Given the description of an element on the screen output the (x, y) to click on. 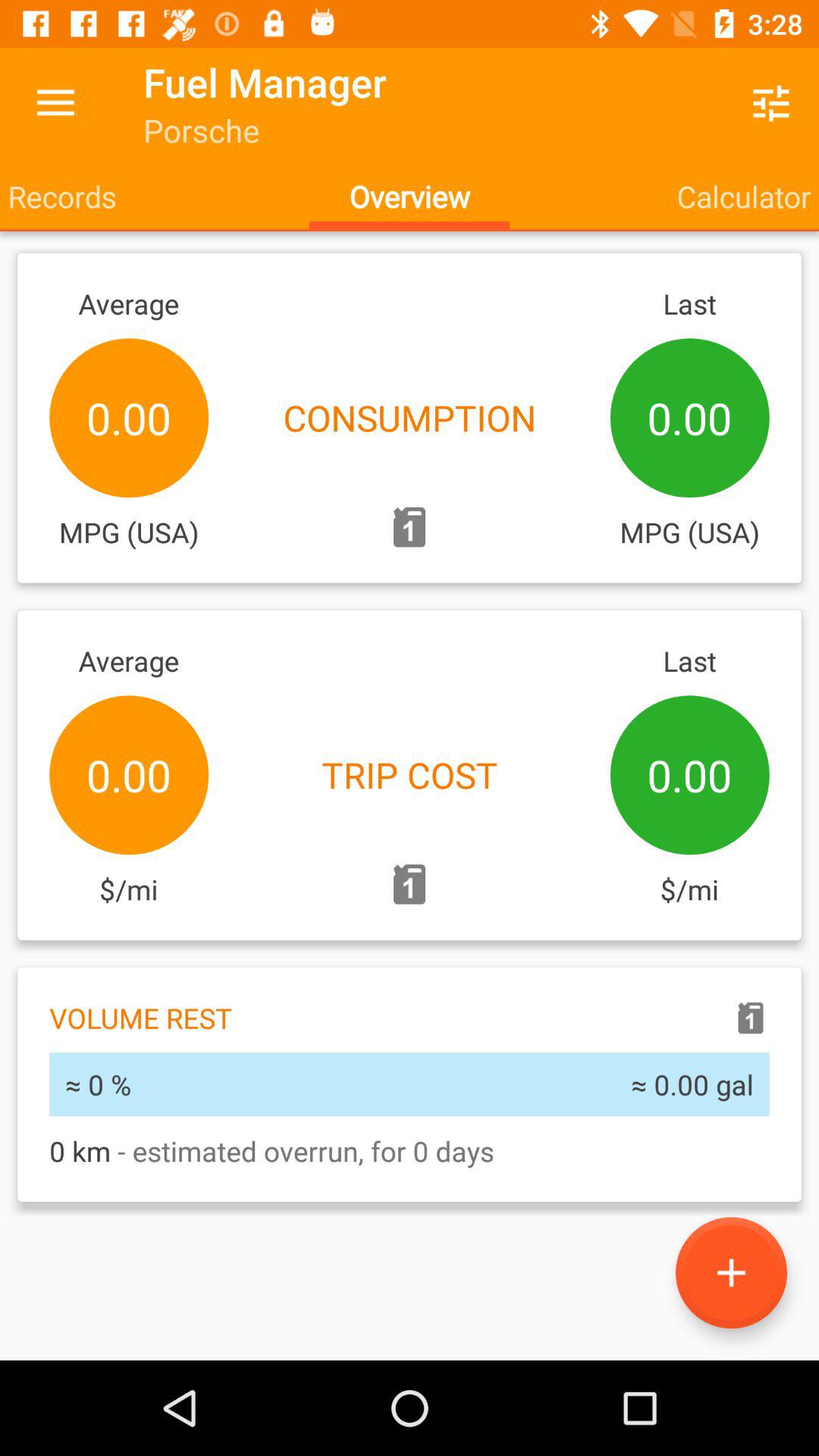
add more (731, 1272)
